Given the description of an element on the screen output the (x, y) to click on. 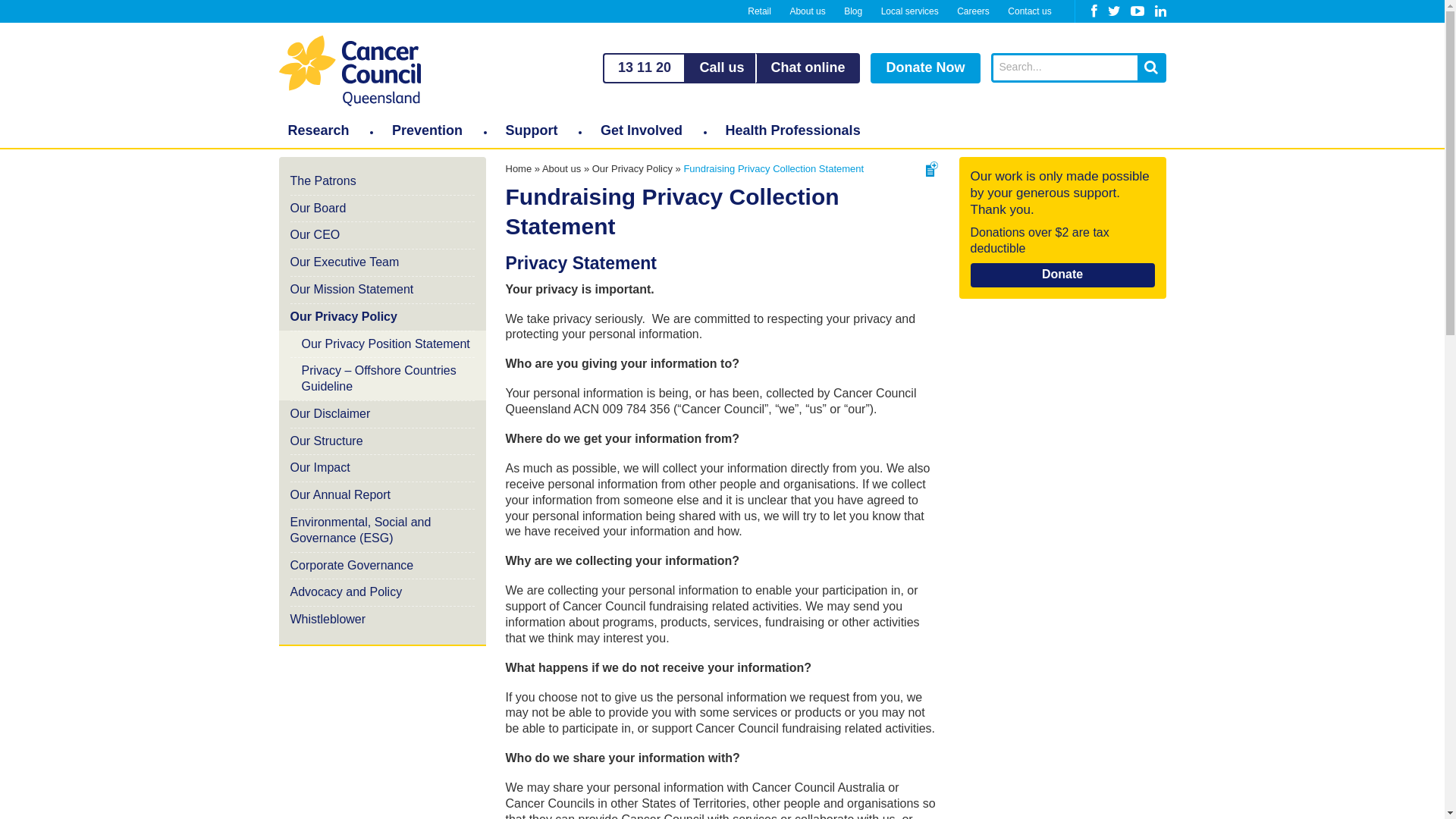
Blog Element type: text (852, 11)
Environmental, Social and Governance (ESG) Element type: text (381, 530)
Our Impact Element type: text (381, 467)
Donate Now Element type: text (924, 67)
Retail Element type: text (759, 11)
Our Annual Report Element type: text (381, 494)
Research Element type: text (318, 130)
Our Disclaimer Element type: text (381, 413)
Donate Element type: text (1062, 275)
Corporate Governance Element type: text (381, 565)
Our Mission Statement Element type: text (381, 289)
Local services Element type: text (909, 11)
Health Professionals Element type: text (793, 130)
Home Element type: text (518, 168)
Careers Element type: text (973, 11)
Our Executive Team Element type: text (381, 262)
About us Element type: text (806, 11)
Chat online Element type: text (807, 67)
Support Element type: text (531, 130)
Prevention Element type: text (427, 130)
The Patrons Element type: text (381, 181)
Get Involved Element type: text (641, 130)
Our CEO Element type: text (381, 234)
Whistleblower Element type: text (381, 619)
Our Structure Element type: text (381, 441)
Our Privacy Policy Element type: text (632, 168)
Our Privacy Policy Element type: text (381, 316)
Call us Element type: text (721, 67)
13 11 20 Element type: text (643, 67)
Our Privacy Position Statement Element type: text (381, 343)
Contact us Element type: text (1029, 11)
Advocacy and Policy Element type: text (381, 591)
About us Element type: text (561, 168)
Our Board Element type: text (381, 208)
